Given the description of an element on the screen output the (x, y) to click on. 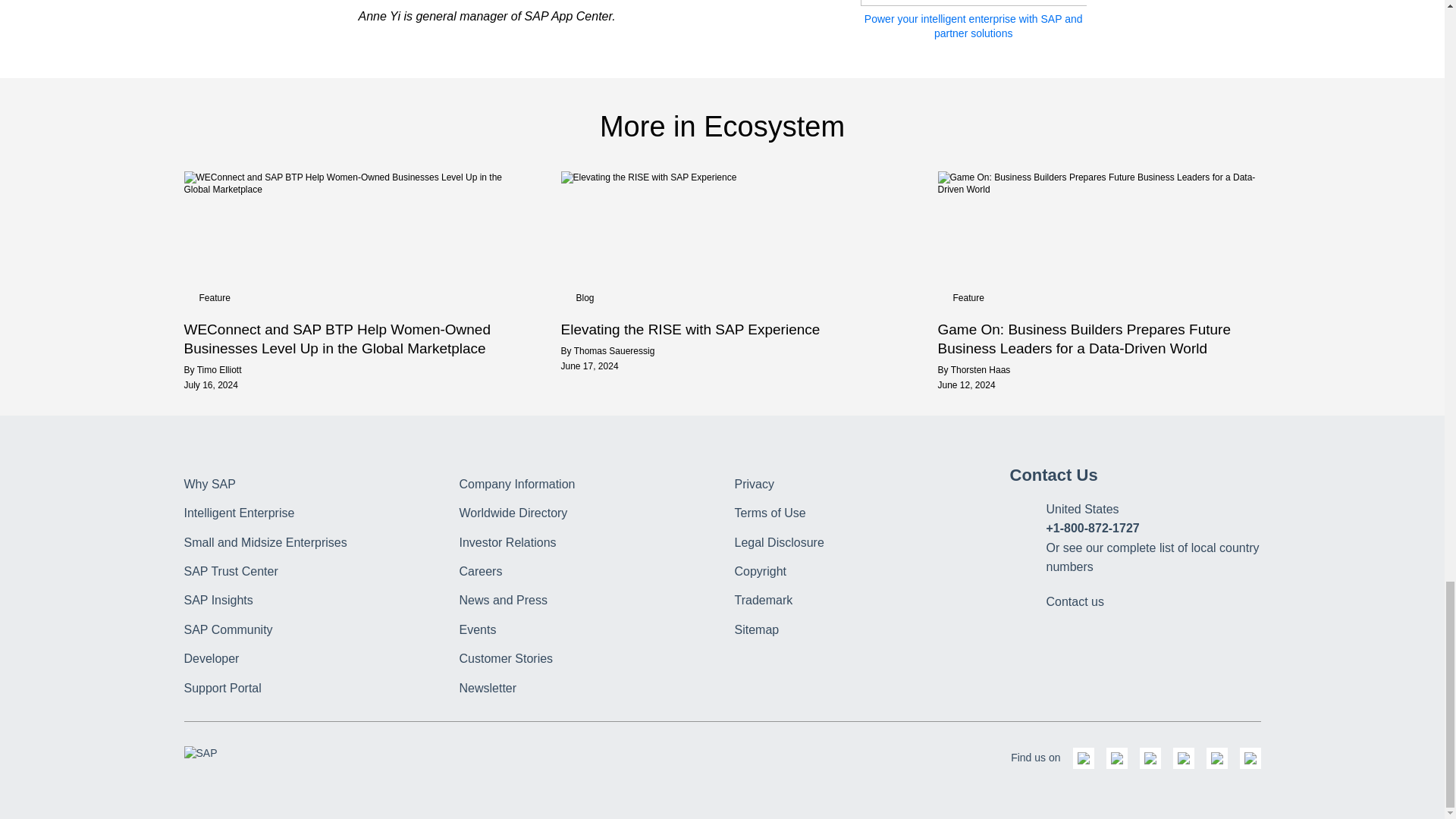
Intelligent Enterprise (238, 512)
Developer (210, 658)
Posts by Timo Elliott (218, 369)
Feature (968, 297)
SAP Trust Center (230, 571)
Timo Elliott (218, 369)
Why SAP (208, 483)
SAP Community (227, 629)
Thorsten Haas (980, 369)
Feature (214, 297)
Posts by Thorsten Haas (980, 369)
Posts by Thomas Saueressig (614, 350)
Company Information (517, 483)
SAP Insights (217, 599)
